Given the description of an element on the screen output the (x, y) to click on. 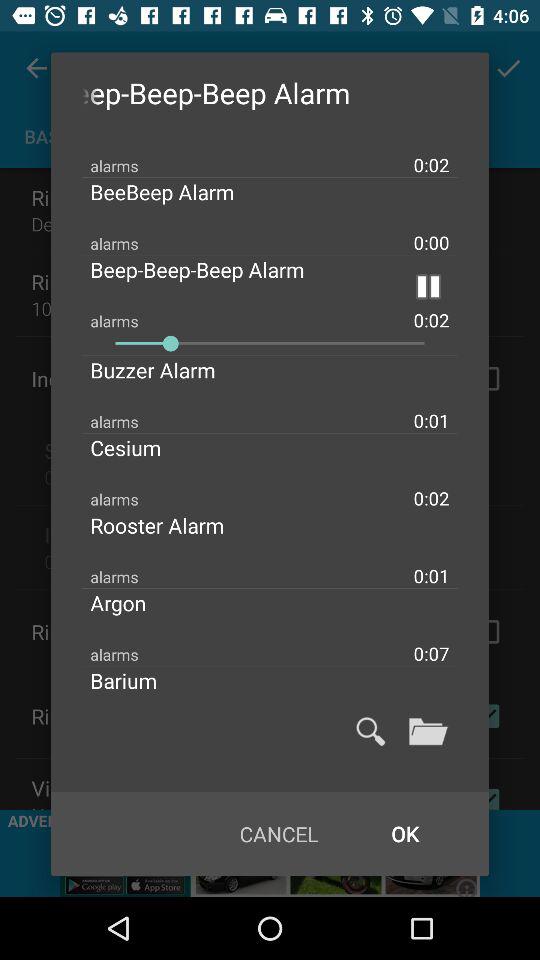
browse your files (428, 731)
